Given the description of an element on the screen output the (x, y) to click on. 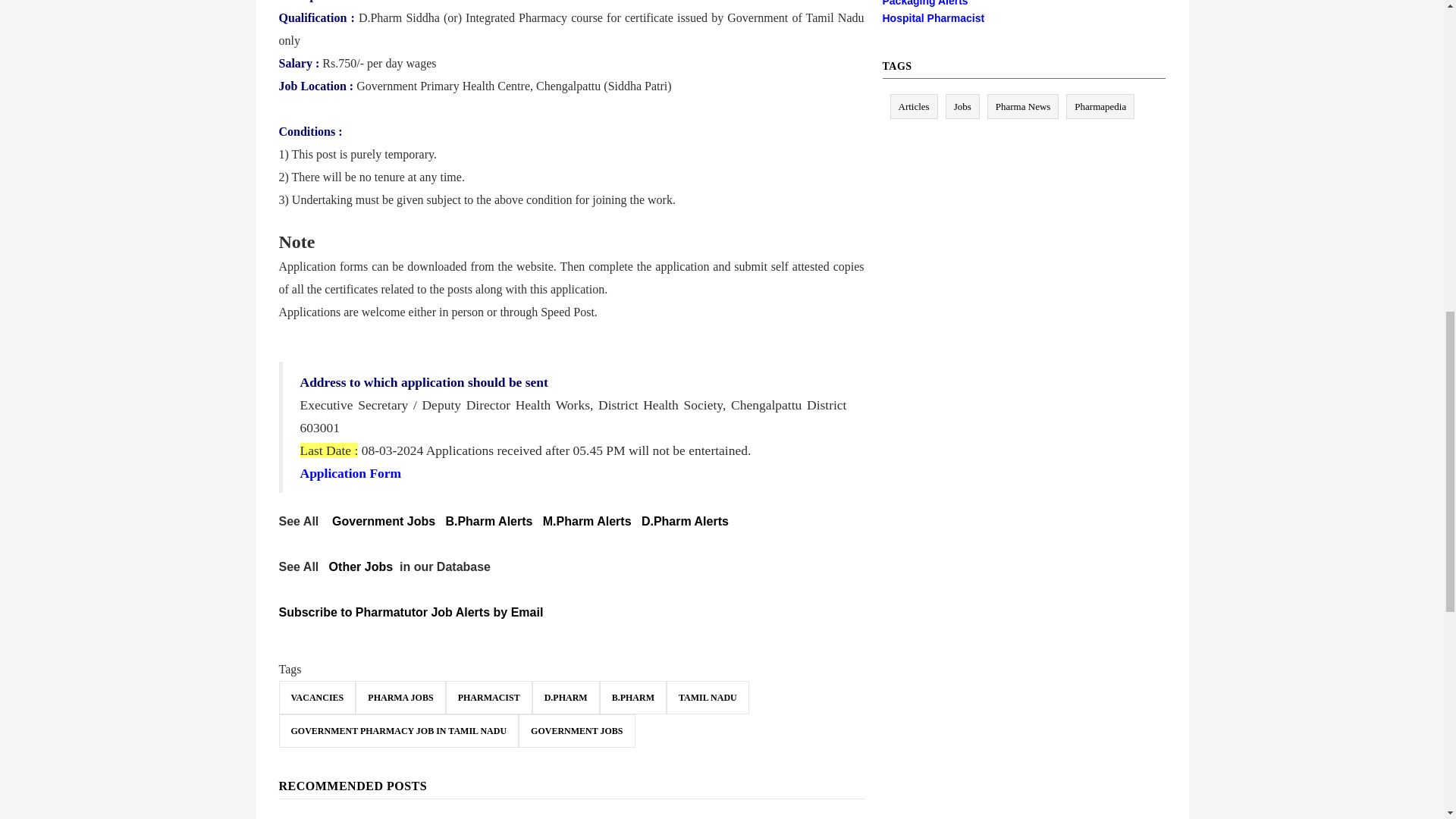
Other Jobs (361, 566)
D.Pharm Alerts (685, 521)
B.Pharm Alerts (488, 521)
Application Form (350, 473)
VACANCIES (317, 697)
Government Jobs (383, 521)
Subscribe to Pharmatutor Job Alerts by Email (411, 612)
M.Pharm Alerts (587, 521)
